Given the description of an element on the screen output the (x, y) to click on. 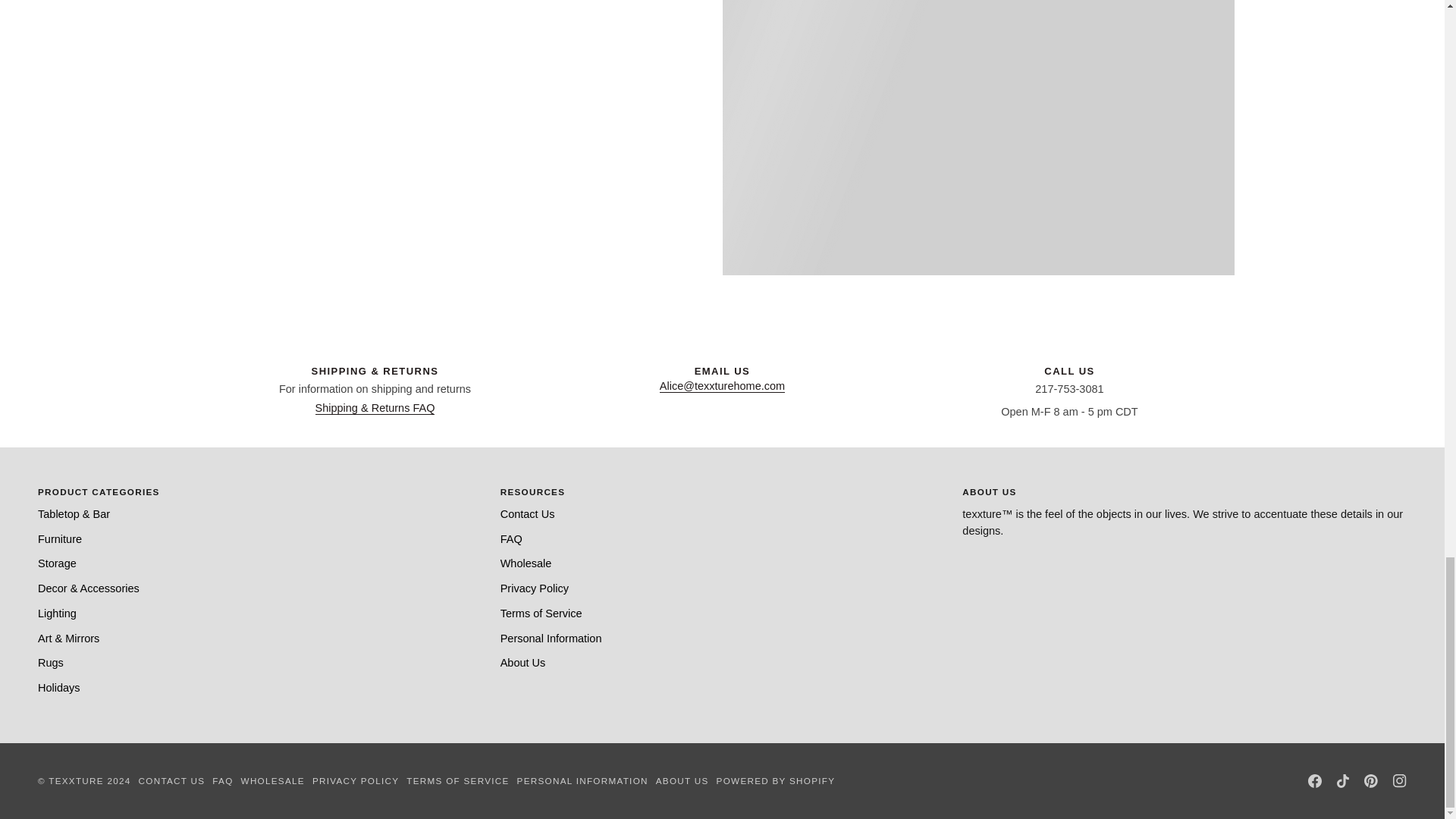
Pinterest (1370, 780)
Instagram (1399, 780)
Facebook (1314, 780)
